Given the description of an element on the screen output the (x, y) to click on. 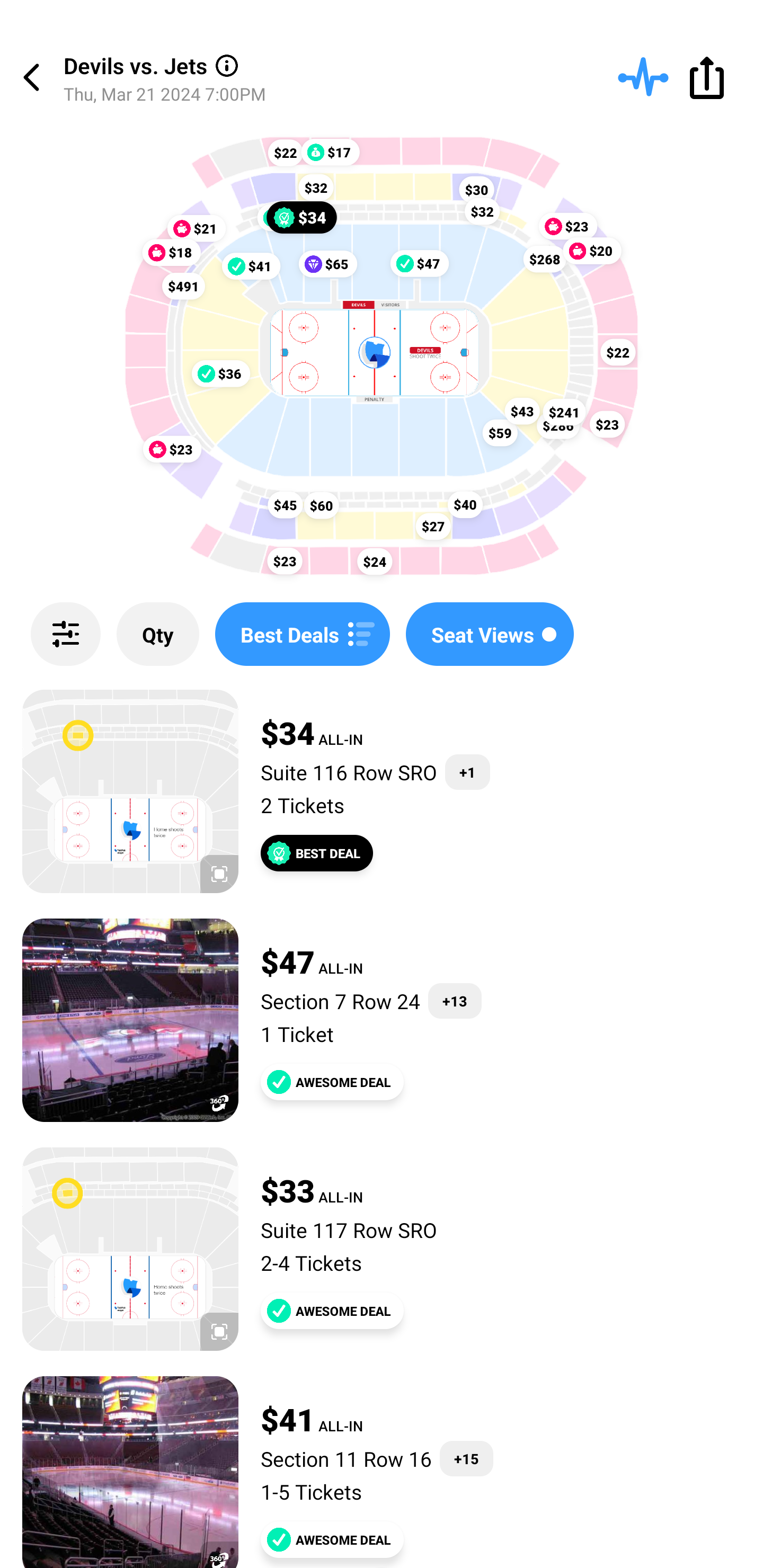
$47 (419, 263)
$65 (328, 263)
$41 (251, 265)
$59 (499, 432)
Qty (157, 634)
Best Deals (302, 634)
Seat Views (489, 634)
+1 (466, 772)
BEST DEAL (316, 852)
+13 (454, 1001)
AWESOME DEAL (331, 1081)
AWESOME DEAL (331, 1310)
+15 (466, 1458)
AWESOME DEAL (331, 1539)
